Given the description of an element on the screen output the (x, y) to click on. 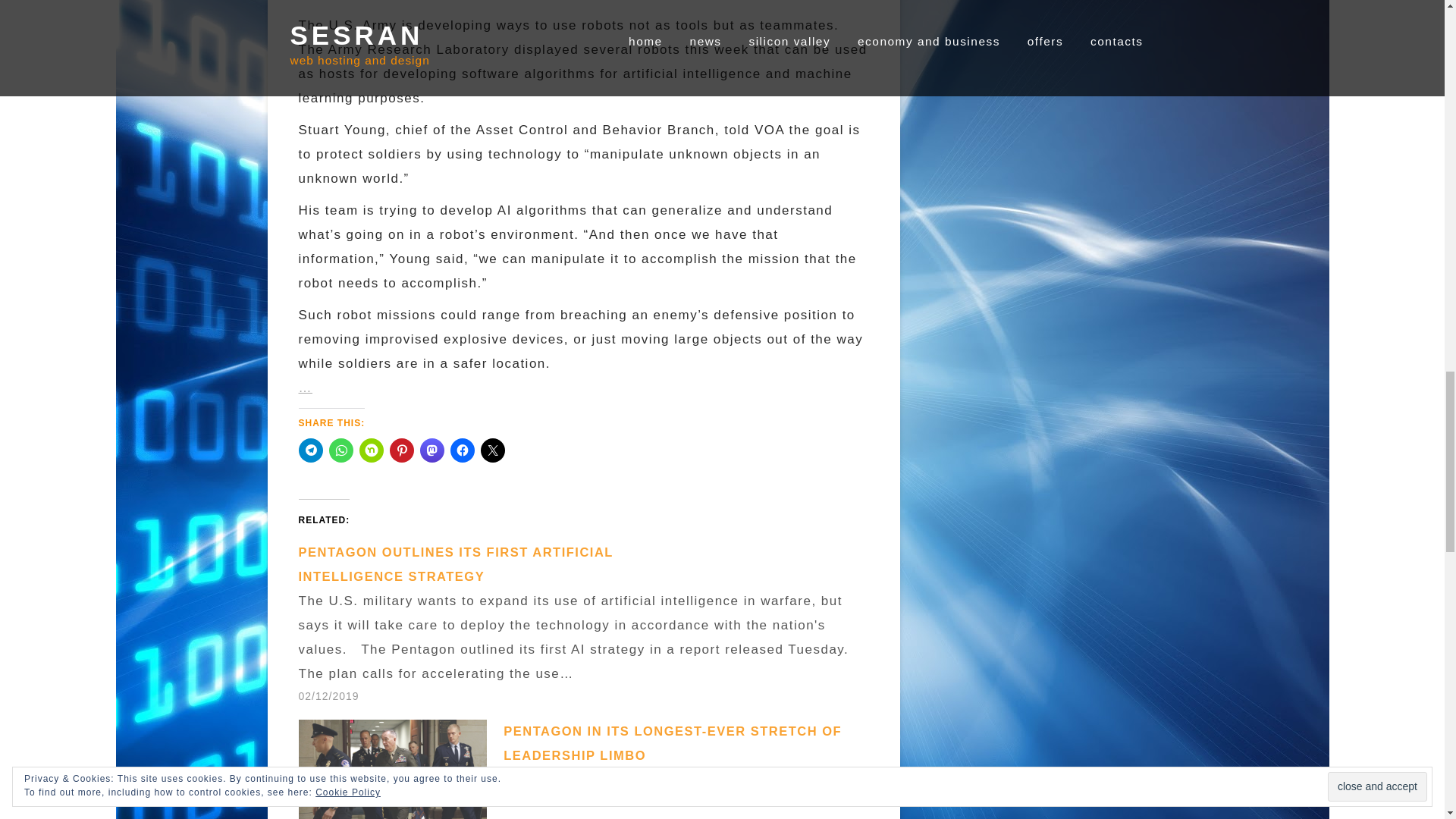
Click to share on Pinterest (401, 450)
Pentagon Outlines its First Artificial Intelligence Strategy (455, 564)
Click to share on Mastodon (432, 450)
Click to share on X (492, 450)
Click to share on WhatsApp (341, 450)
Pentagon in its Longest-ever Stretch of Leadership Limbo (672, 742)
PENTAGON OUTLINES ITS FIRST ARTIFICIAL INTELLIGENCE STRATEGY (455, 564)
PENTAGON IN ITS LONGEST-EVER STRETCH OF LEADERSHIP LIMBO (672, 742)
Pentagon Outlines its First Artificial Intelligence Strategy (590, 623)
Click to share on Telegram (310, 450)
Click to share on Nextdoor (371, 450)
Click to share on Facebook (461, 450)
